Given the description of an element on the screen output the (x, y) to click on. 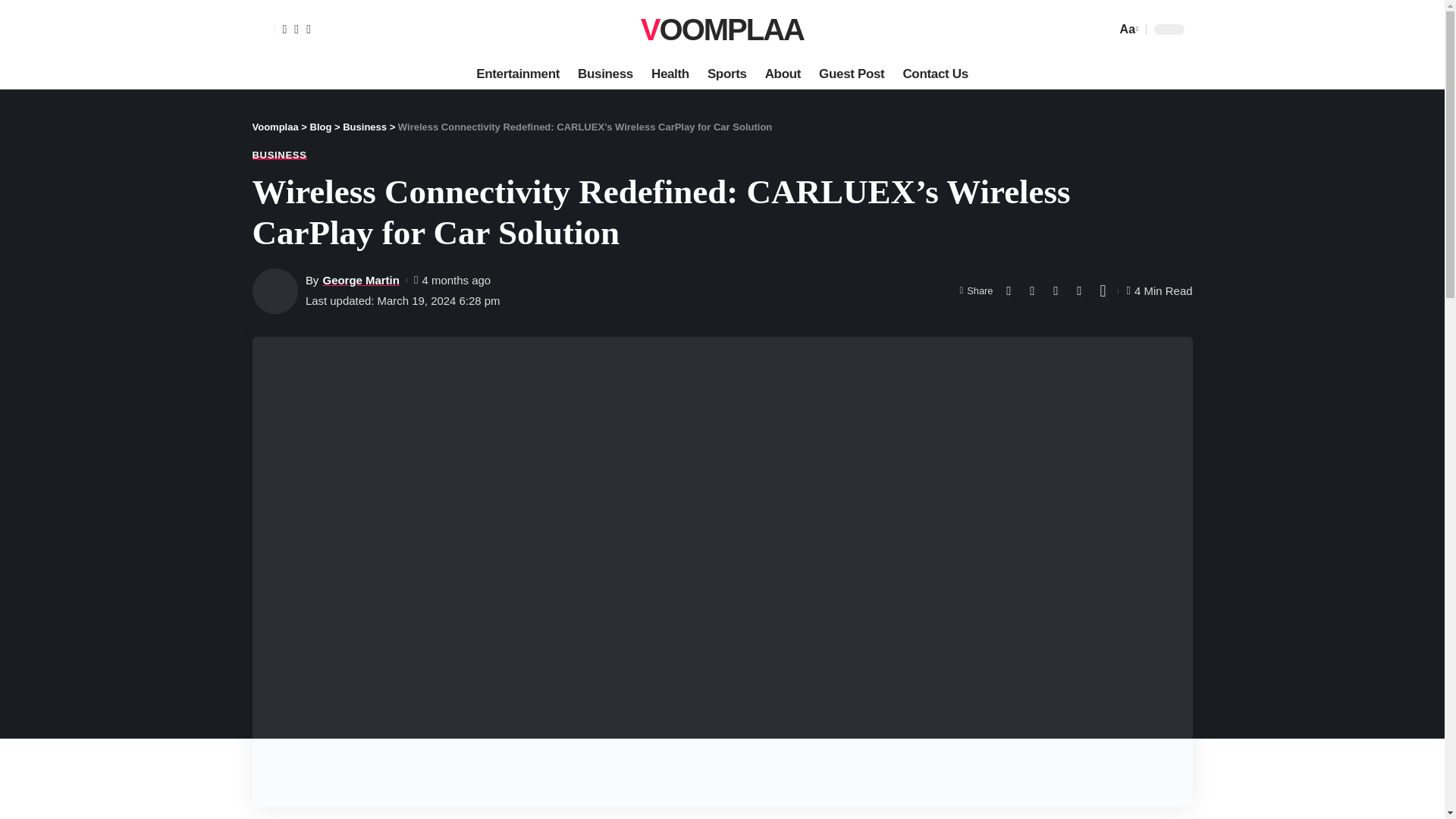
Business (605, 73)
About (782, 73)
Go to the Business Category archives. (364, 126)
Voomplaa (721, 29)
Contact Us (934, 73)
VOOMPLAA (1127, 28)
Guest Post (721, 29)
Go to Voomplaa. (851, 73)
Go to Blog. (274, 126)
Sports (319, 126)
Health (726, 73)
Entertainment (670, 73)
